Given the description of an element on the screen output the (x, y) to click on. 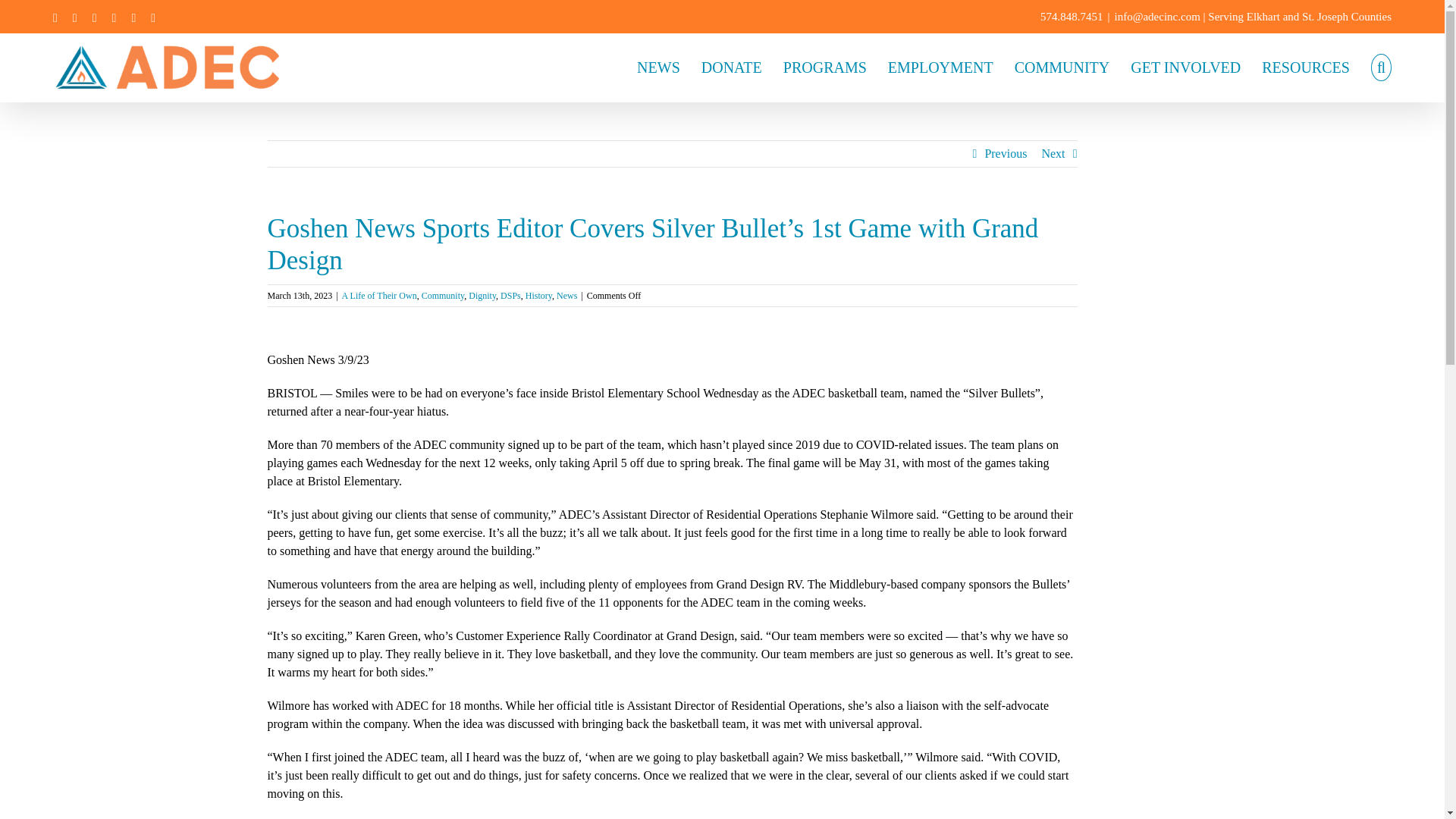
DONATE (731, 65)
GET INVOLVED (1185, 65)
EMPLOYMENT (940, 65)
COMMUNITY (1061, 65)
PROGRAMS (824, 65)
RESOURCES (1305, 65)
